Given the description of an element on the screen output the (x, y) to click on. 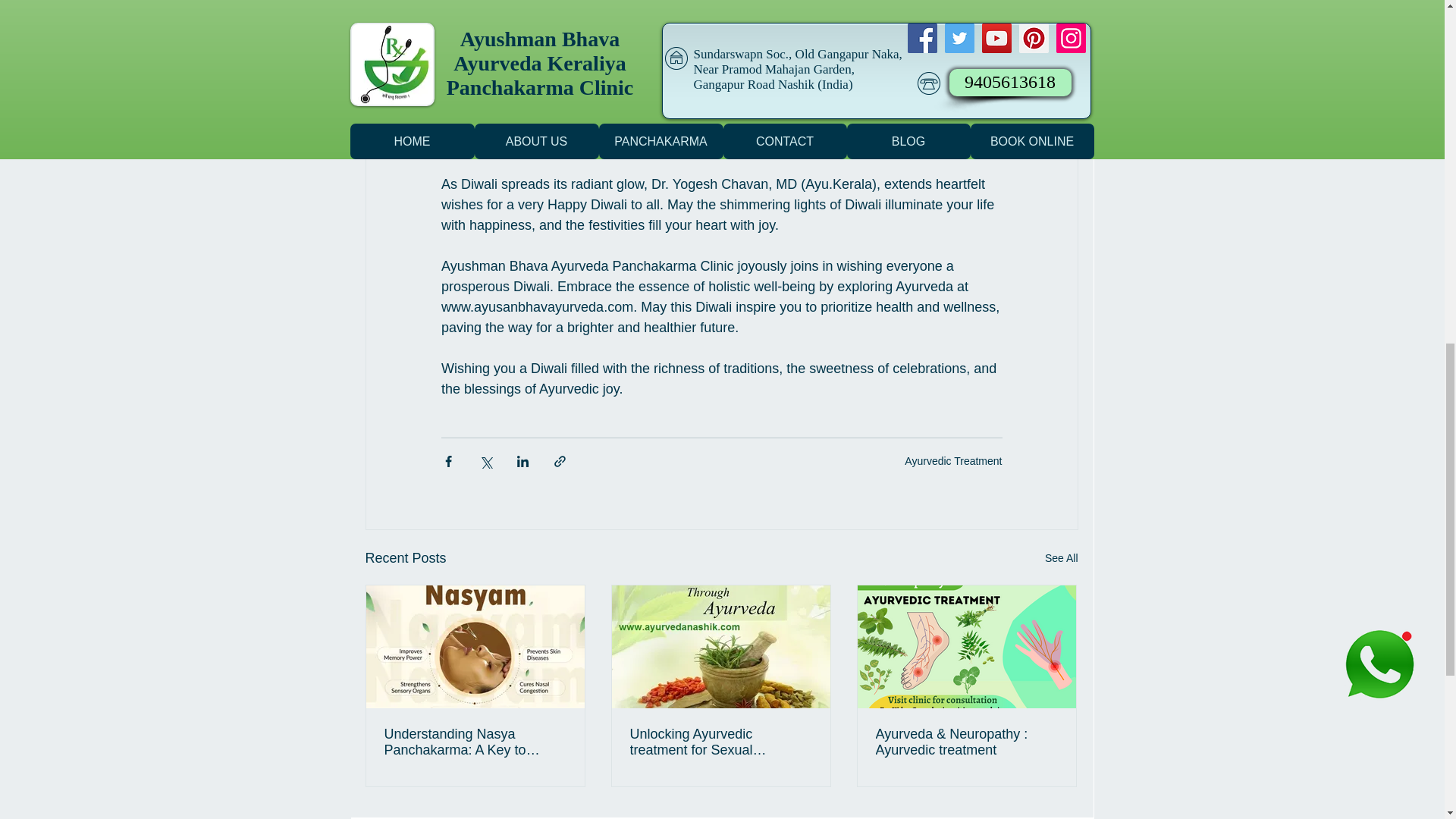
See All (1061, 558)
Ayurvedic Treatment (952, 460)
Understanding Nasya Panchakarma: A Key to Holistic Health (475, 742)
